Given the description of an element on the screen output the (x, y) to click on. 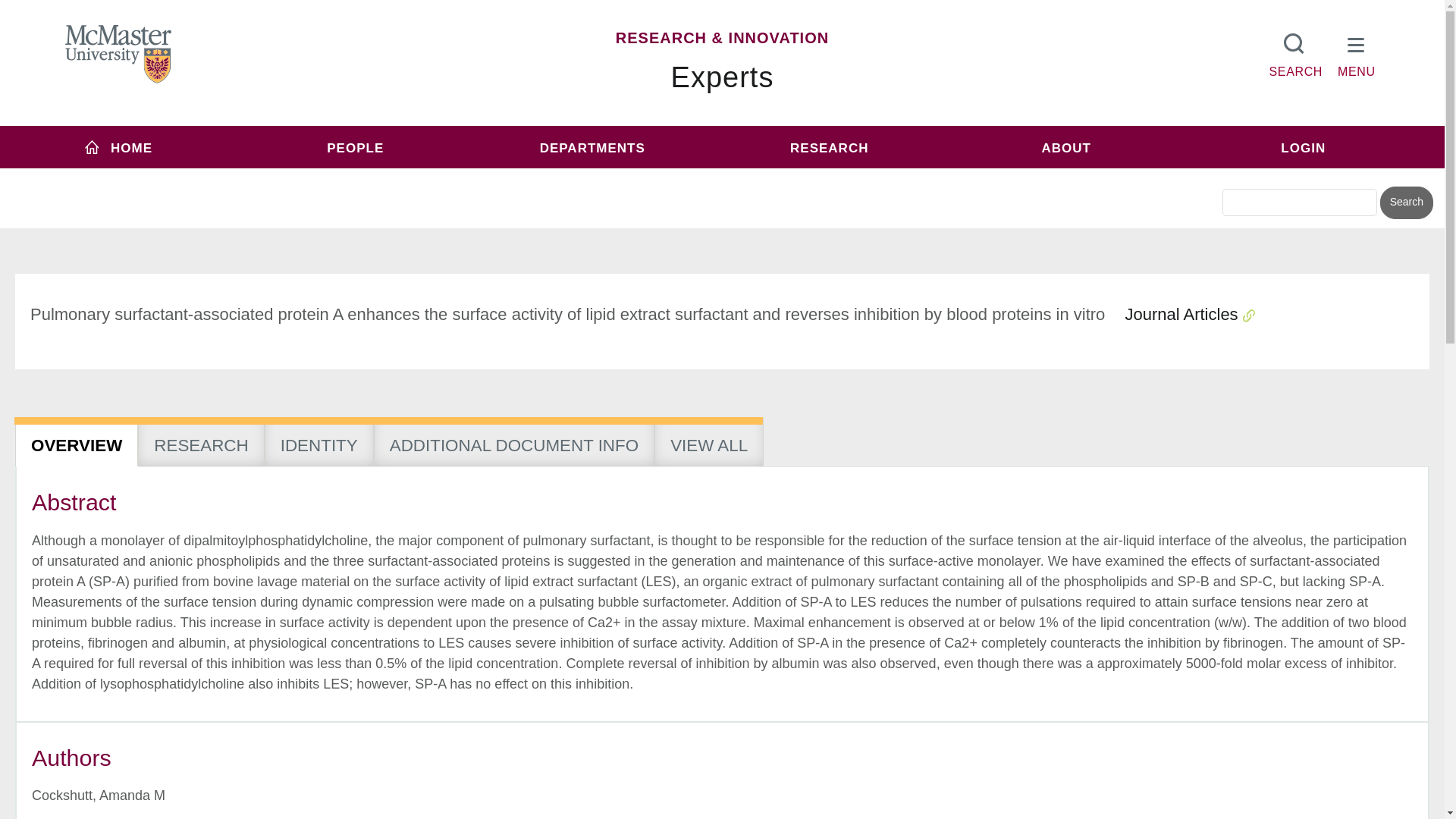
About menu item (1066, 147)
Experts (722, 77)
People menu item (355, 147)
MENU (1356, 51)
Departments menu item (592, 147)
McMaster Univeristy Logo (118, 54)
Search (1406, 202)
inurl:experts.mcmaster.ca (601, 175)
SEARCH (1295, 51)
Research menu item (829, 147)
MCMASTER LOGO (118, 54)
Home menu item (118, 147)
inurl:mcmaster.ca (829, 175)
